Given the description of an element on the screen output the (x, y) to click on. 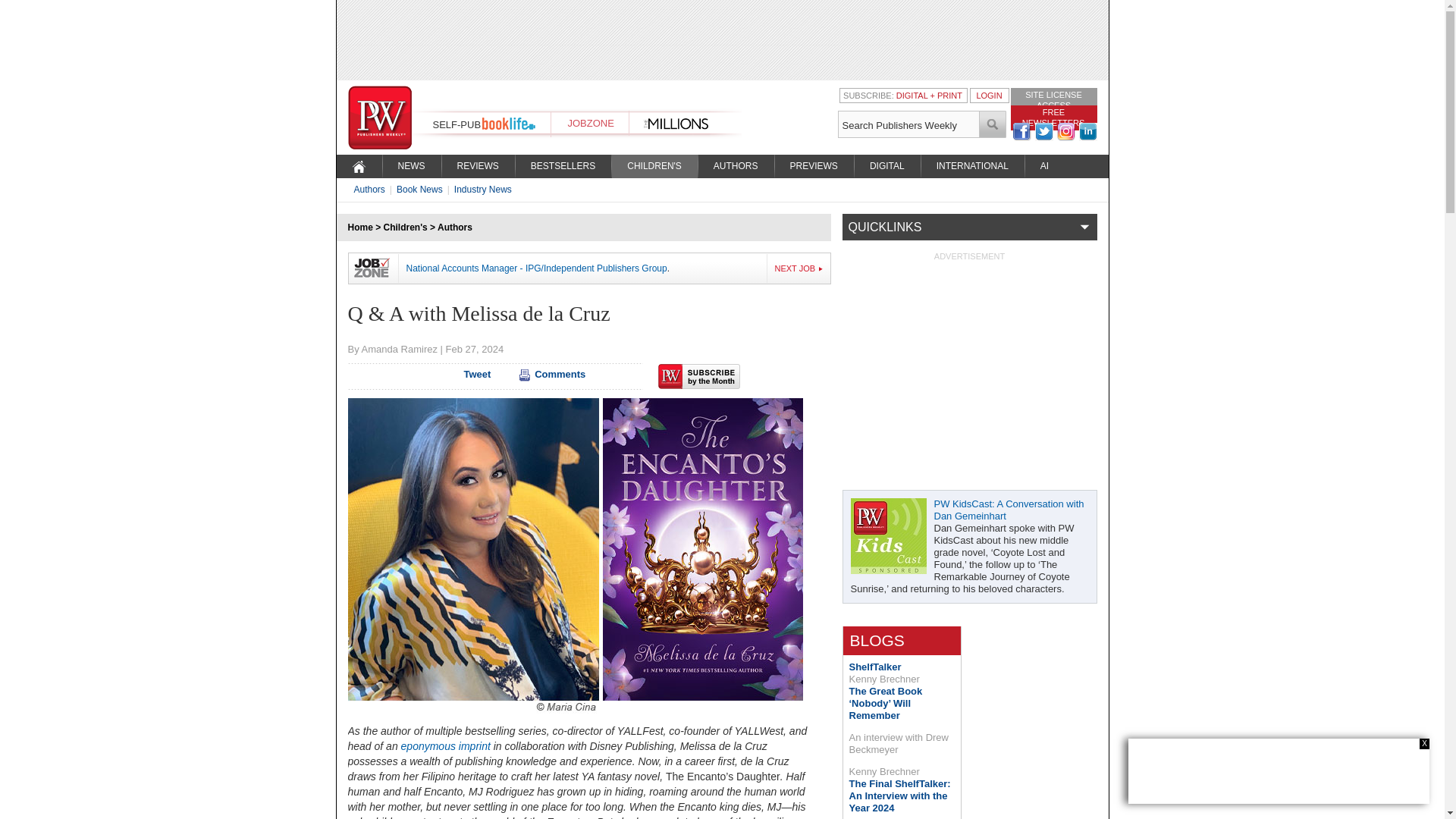
submit (992, 124)
LOGIN (988, 94)
Home (359, 226)
Search Publishers Weekly (907, 124)
NEXT JOB (799, 267)
3rd party ad content (969, 357)
Children's (406, 226)
3rd party ad content (1278, 770)
SITE LICENSE ACCESS (1053, 99)
JOBZONE (589, 122)
3rd party ad content (721, 38)
SELF-PUB (456, 124)
FREE NEWSLETTERS (1053, 117)
Authors (454, 226)
